Given the description of an element on the screen output the (x, y) to click on. 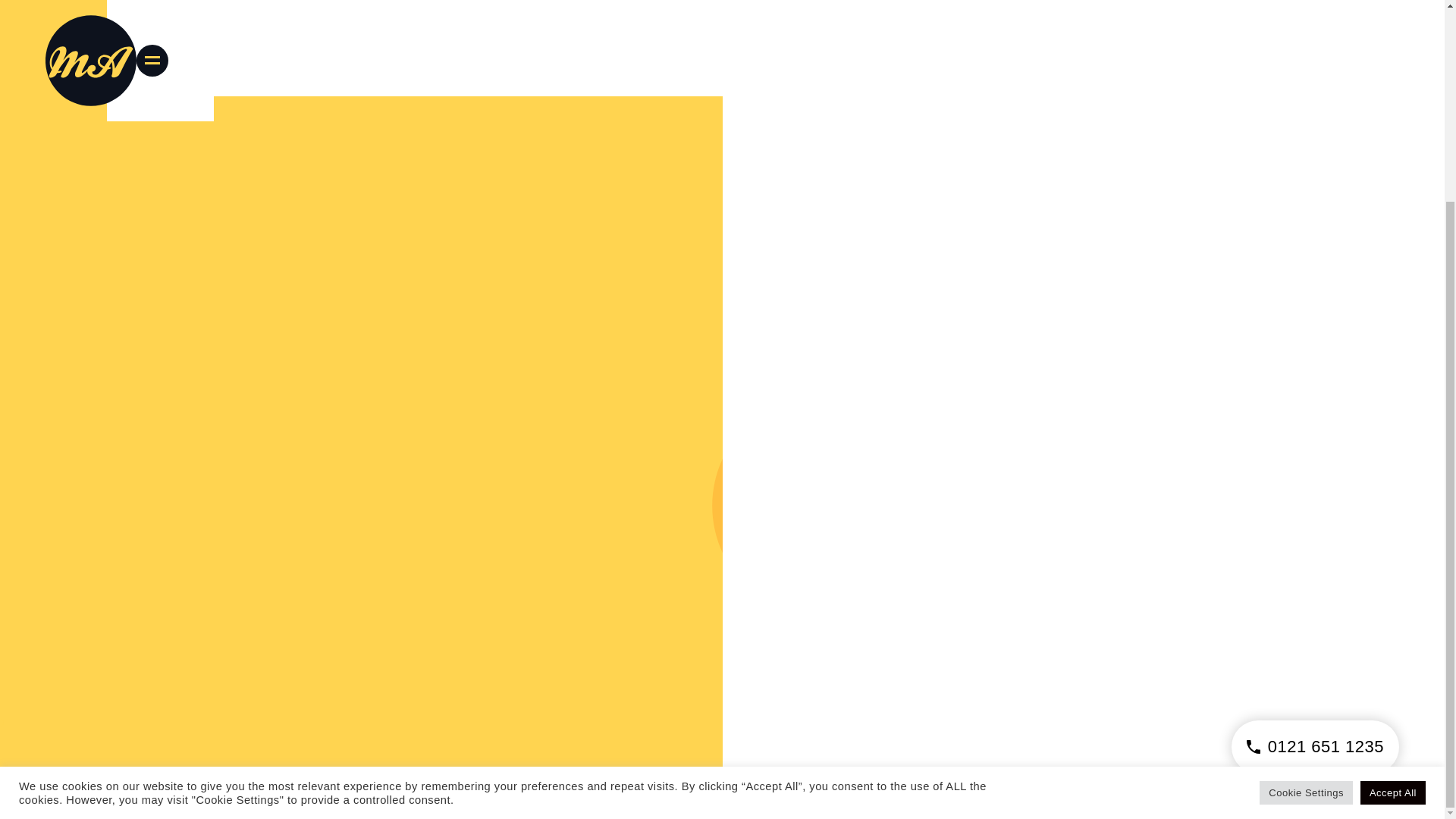
Accept All (1392, 535)
0121 651 1235 (1315, 489)
Cookie Settings (1305, 535)
